Given the description of an element on the screen output the (x, y) to click on. 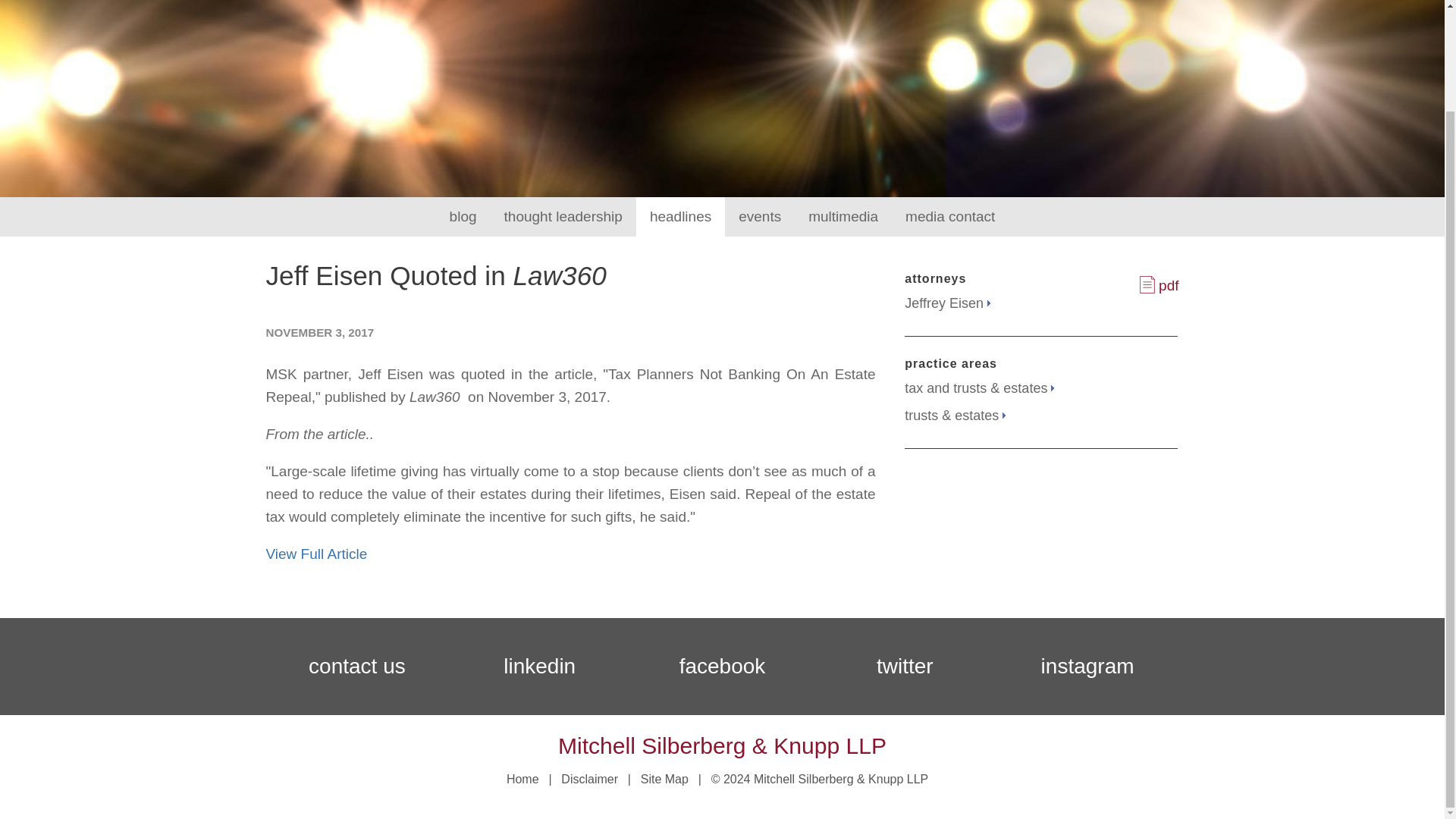
blog (462, 216)
multimedia (842, 216)
events (759, 216)
thought leadership (563, 216)
pdf (1158, 285)
media contact (950, 216)
headlines (680, 216)
Jeffrey Eisen (947, 302)
View Full Article  (317, 553)
